Given the description of an element on the screen output the (x, y) to click on. 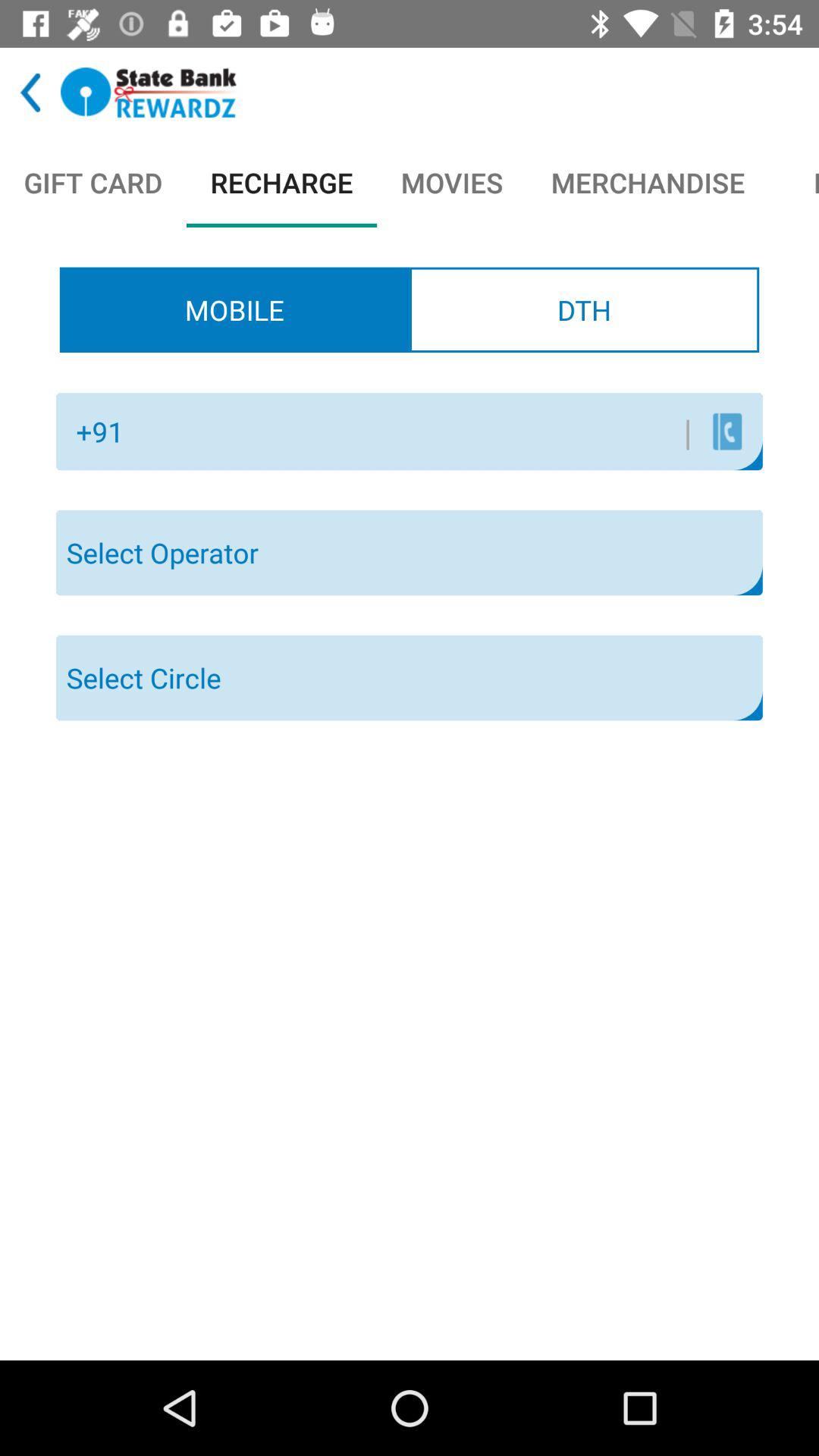
swipe to mobile icon (234, 309)
